Given the description of an element on the screen output the (x, y) to click on. 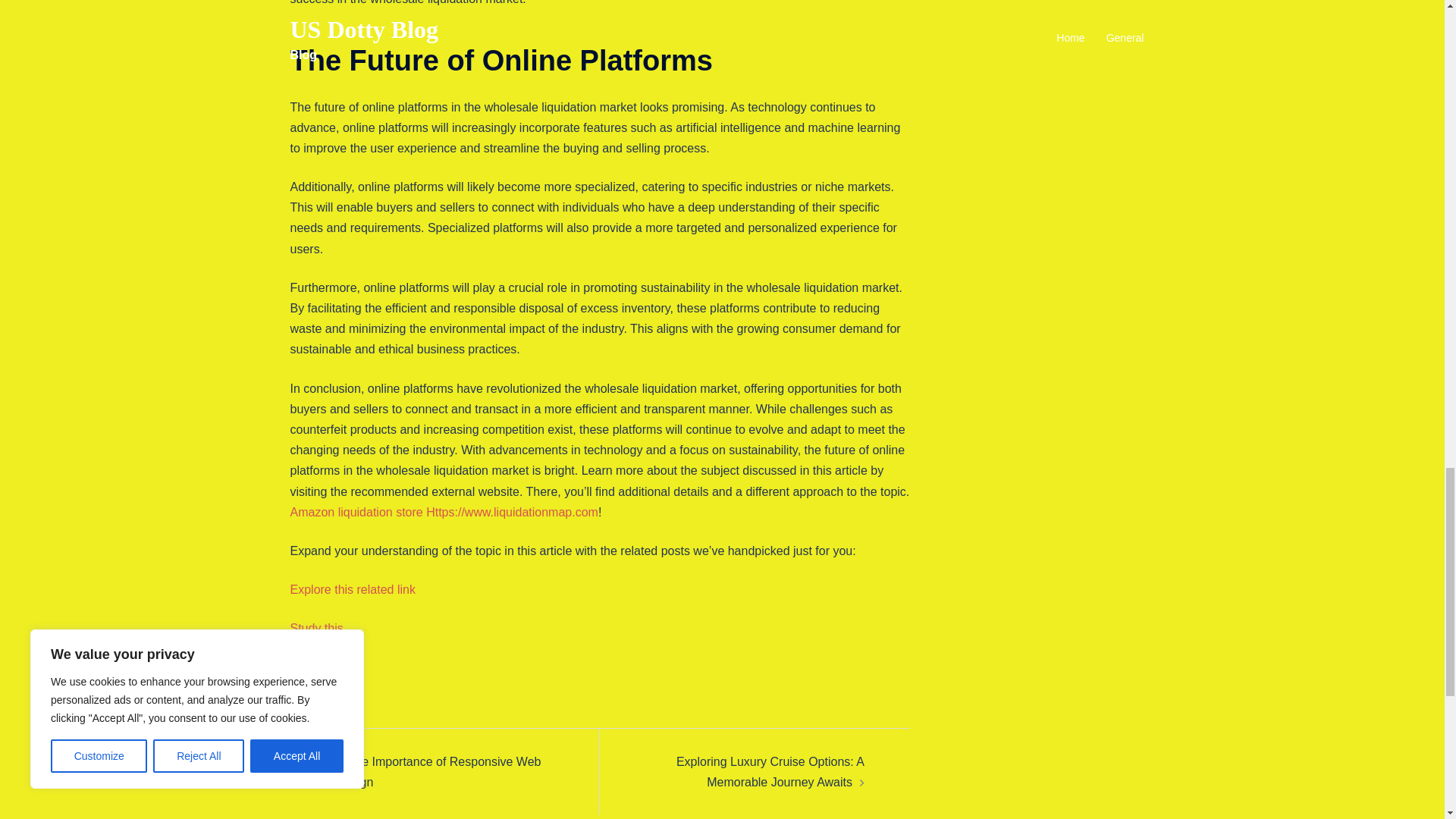
Exploring Luxury Cruise Options: A Memorable Journey Awaits (770, 771)
The Importance of Responsive Web Design (437, 771)
Explore this related link (351, 589)
Study this (315, 627)
